Given the description of an element on the screen output the (x, y) to click on. 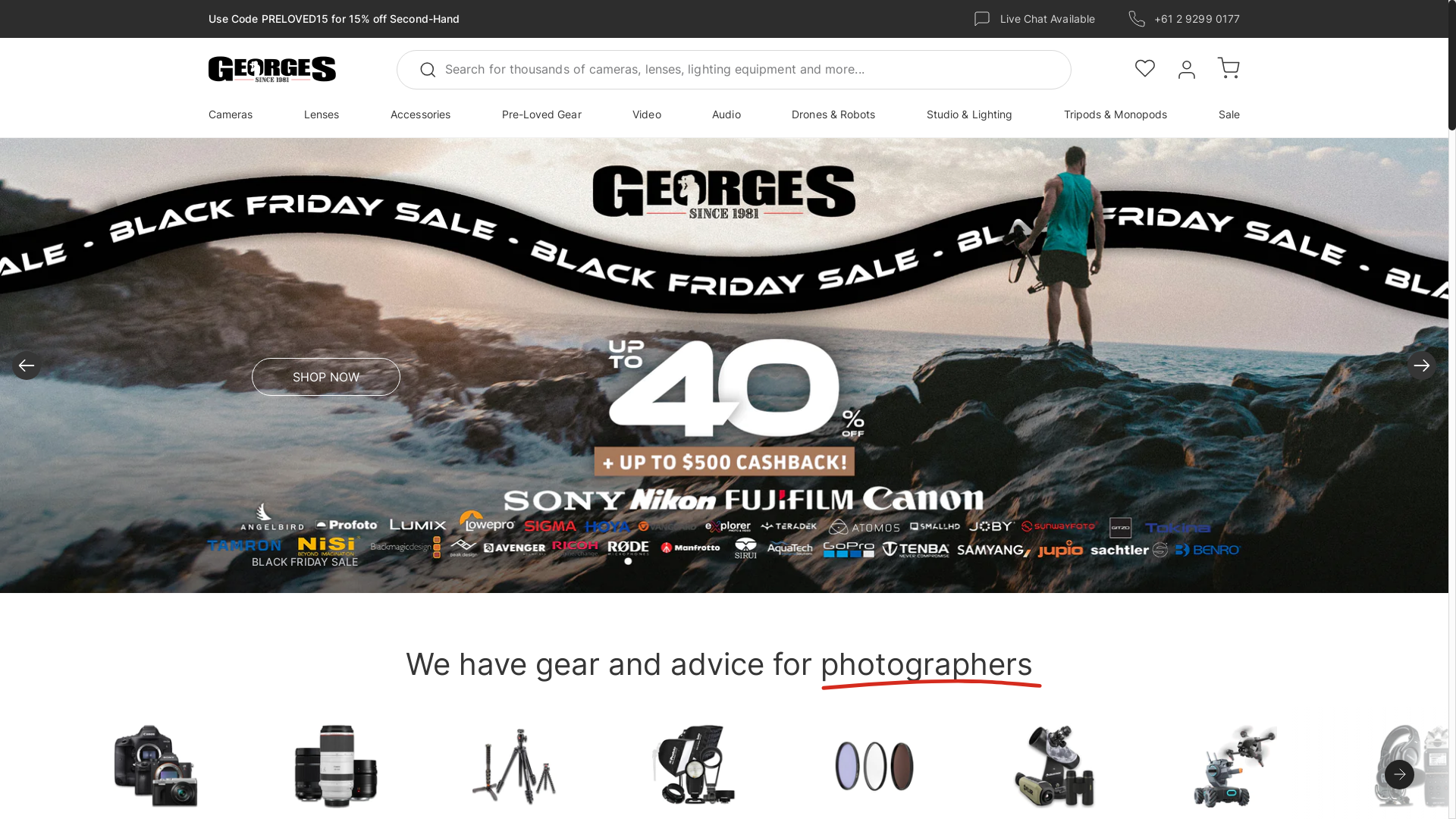
Cart Element type: text (1228, 69)
Video Element type: text (646, 114)
SHOP NOW Element type: text (325, 376)
Audio Element type: text (726, 114)
Drones & Robots Element type: text (833, 114)
Cameras Element type: text (230, 114)
+61 2 9299 0177 Element type: text (1196, 18)
Accessories Element type: text (420, 114)
Lenses Element type: text (321, 114)
Pre-Loved Gear Element type: text (541, 114)
Studio & Lighting Element type: text (969, 114)
BLACK FRIDAY SALE Element type: text (304, 561)
Tripods & Monopods Element type: text (1115, 114)
Sale Element type: text (1228, 114)
